Given the description of an element on the screen output the (x, y) to click on. 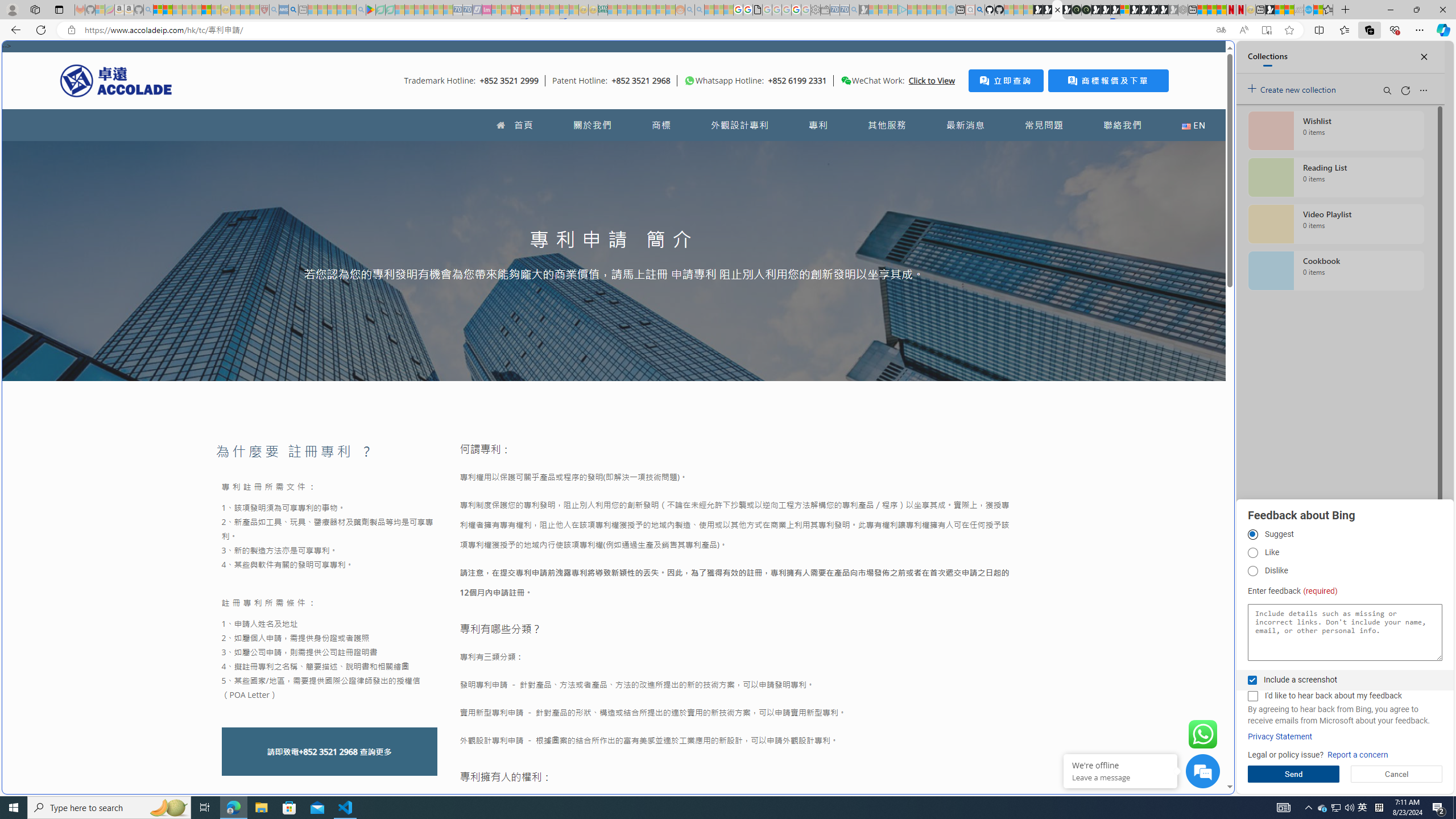
Show translate options (1220, 29)
Cancel (1396, 773)
Like (1252, 552)
Earth has six continents not seven, radical new study claims (1288, 9)
MSN (1118, 536)
Recipes - MSN - Sleeping (234, 9)
